Given the description of an element on the screen output the (x, y) to click on. 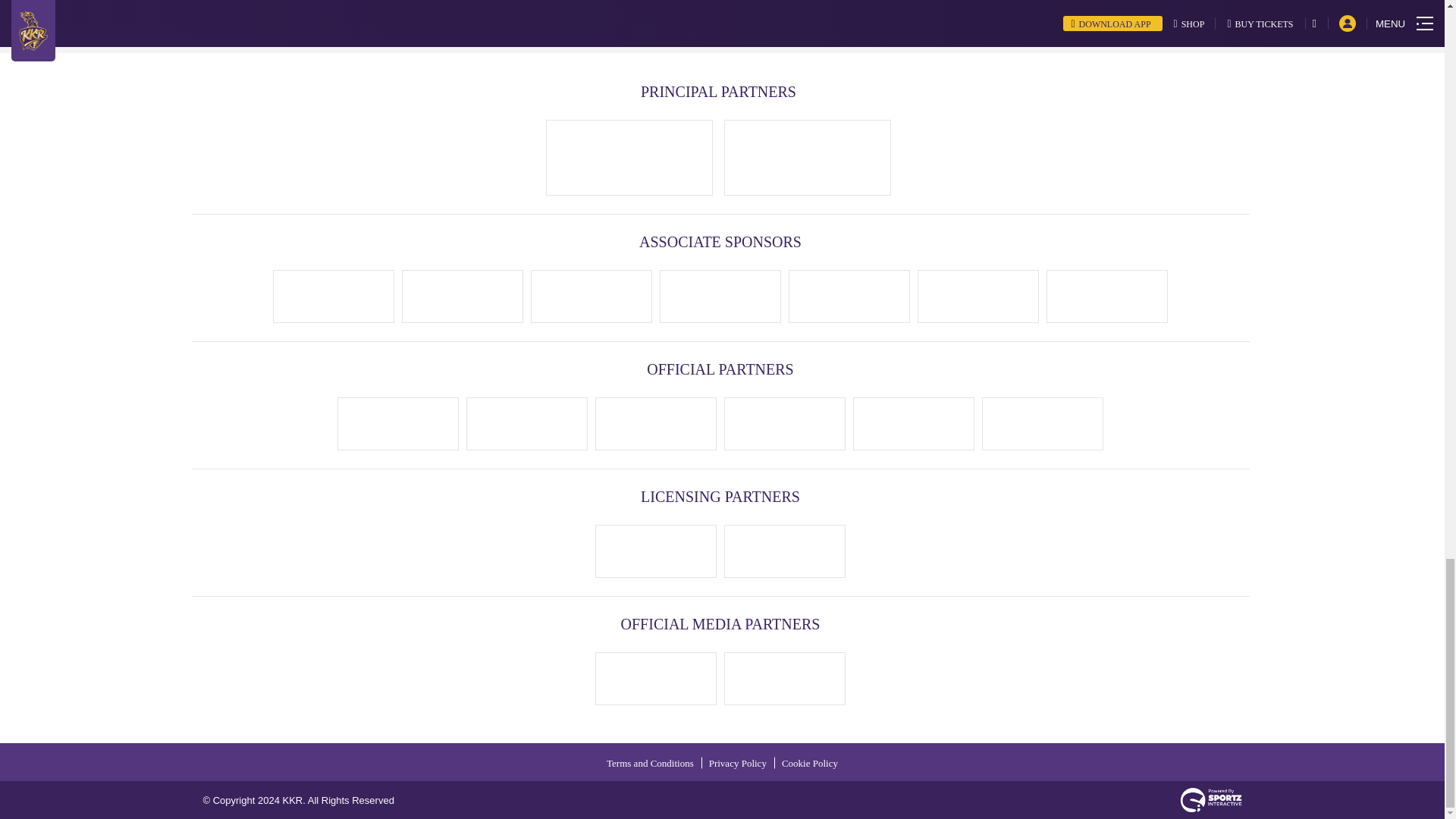
Joy (591, 296)
JSW Paints (977, 296)
Dream11 (628, 157)
Acko (719, 296)
BKT (807, 158)
Thums Up (398, 423)
Royal Green (849, 296)
Bira (526, 423)
